Given the description of an element on the screen output the (x, y) to click on. 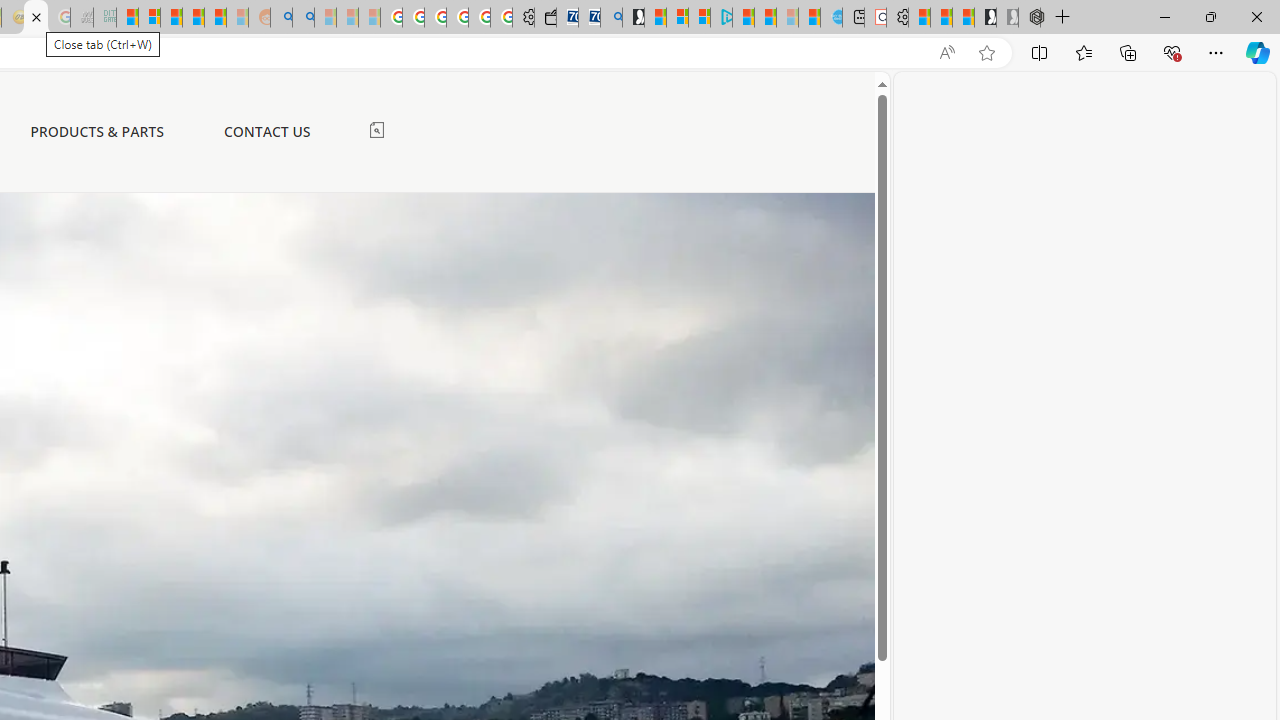
Student Loan Update: Forgiveness Program Ends This Month (215, 17)
PRODUCTS & PARTS (97, 132)
